Given the description of an element on the screen output the (x, y) to click on. 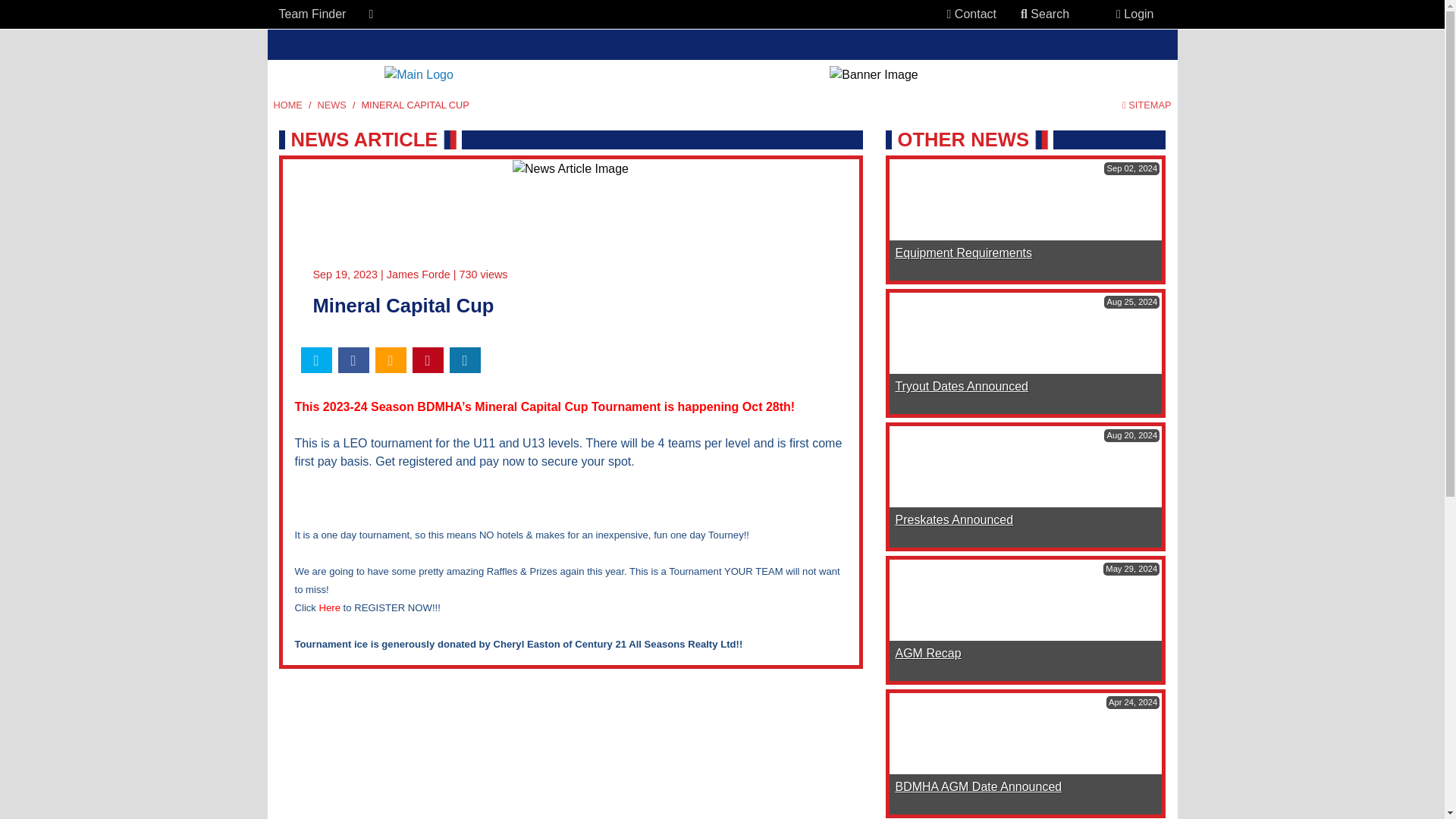
Team Finder (312, 13)
 Search (1045, 14)
 Contact (971, 14)
 Login (1134, 14)
Main Home Page (287, 104)
